Given the description of an element on the screen output the (x, y) to click on. 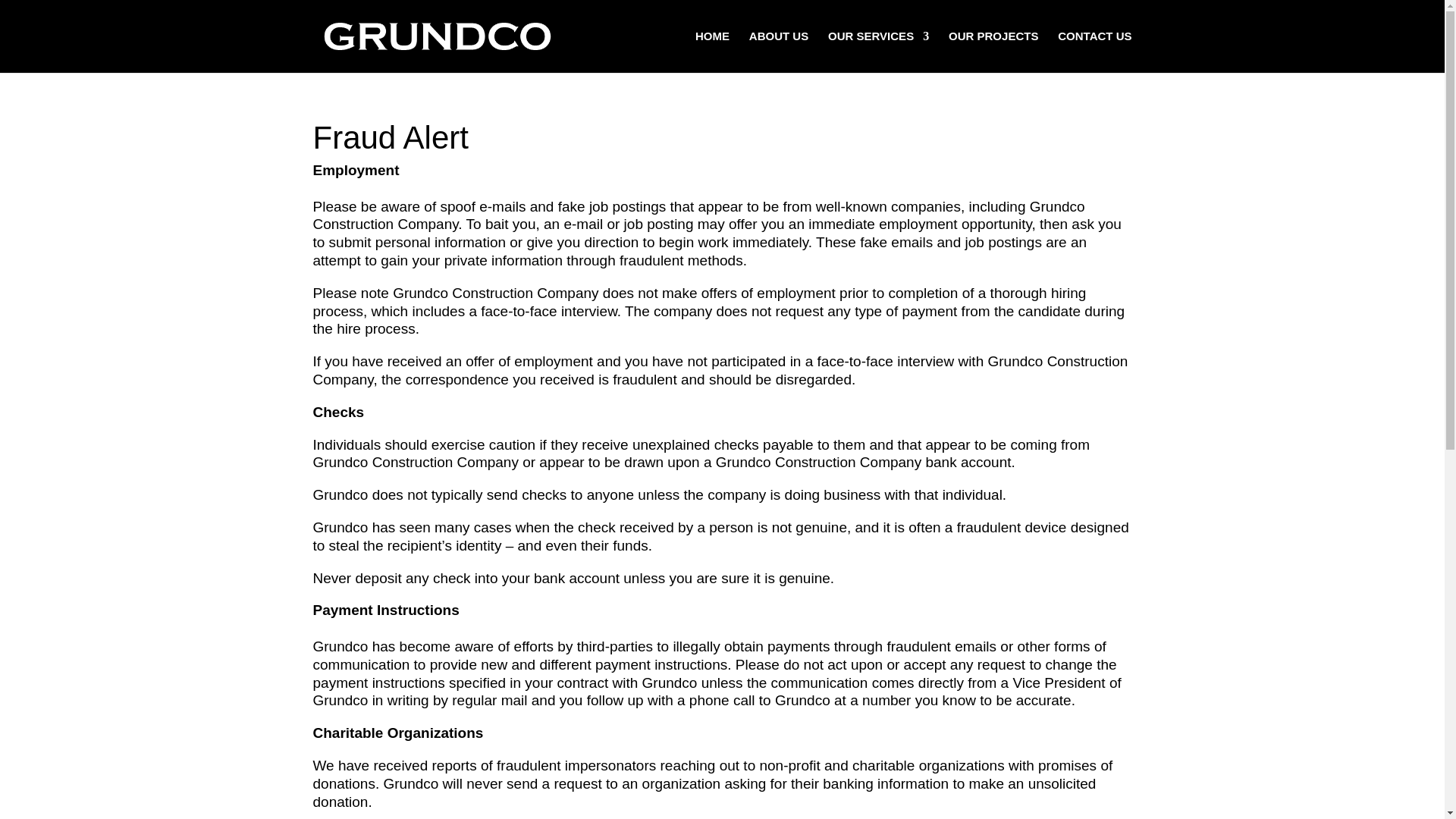
CONTACT US (1094, 51)
OUR PROJECTS (993, 51)
OUR SERVICES (878, 51)
ABOUT US (778, 51)
